Given the description of an element on the screen output the (x, y) to click on. 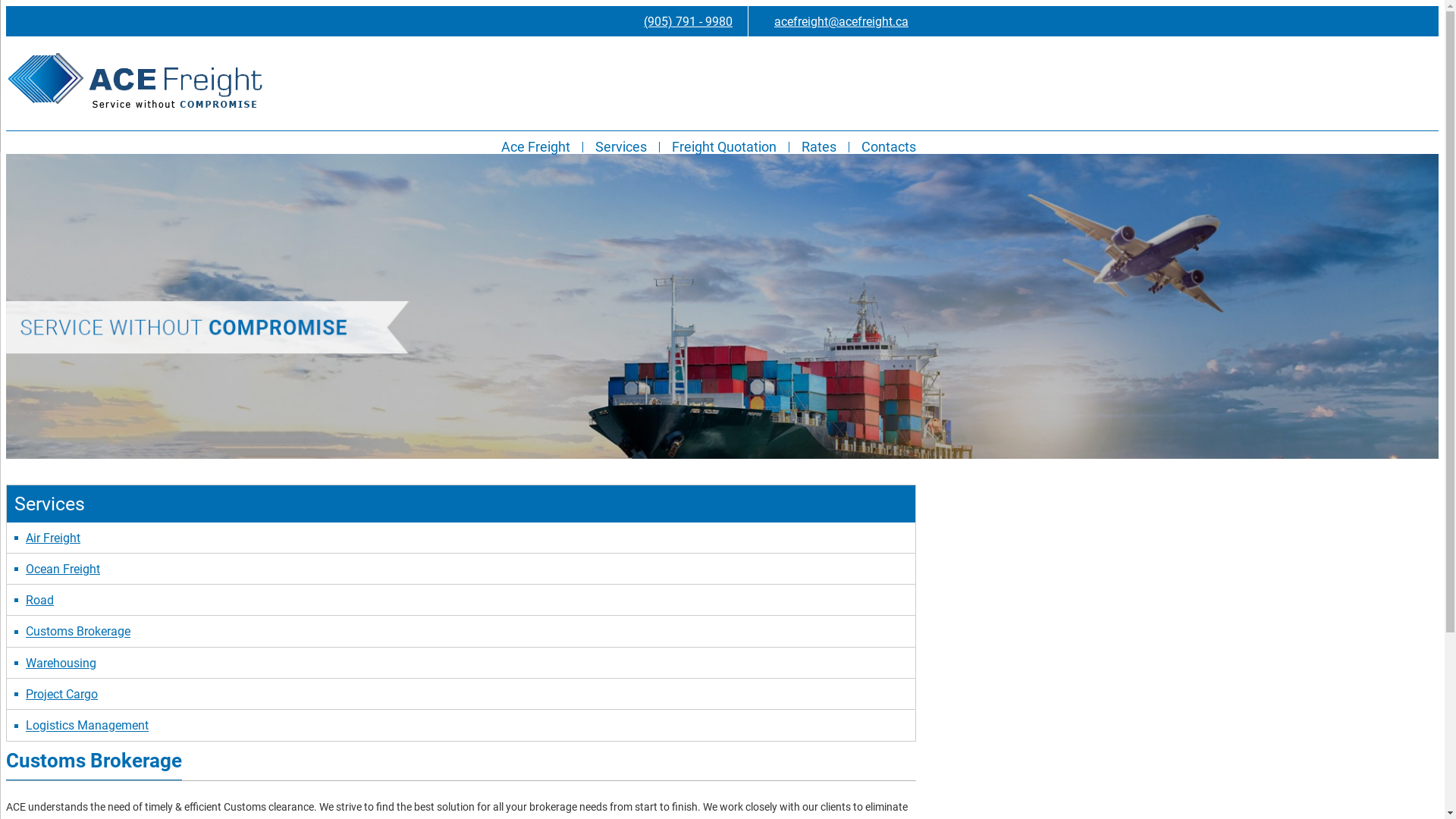
Air Freight Element type: text (52, 537)
Rates Element type: text (818, 146)
Logistics Management Element type: text (86, 725)
(905) 791 - 9980 Element type: text (680, 21)
Contacts Element type: text (888, 146)
Road Element type: text (39, 600)
acefreight@acefreight.ca Element type: text (833, 21)
Ocean Freight Element type: text (62, 568)
Project Cargo Element type: text (61, 694)
Warehousing Element type: text (60, 662)
Freight Quotation Element type: text (723, 146)
Services Element type: text (620, 146)
Ace Freight Element type: text (535, 146)
Customs Brokerage Element type: text (77, 631)
